Given the description of an element on the screen output the (x, y) to click on. 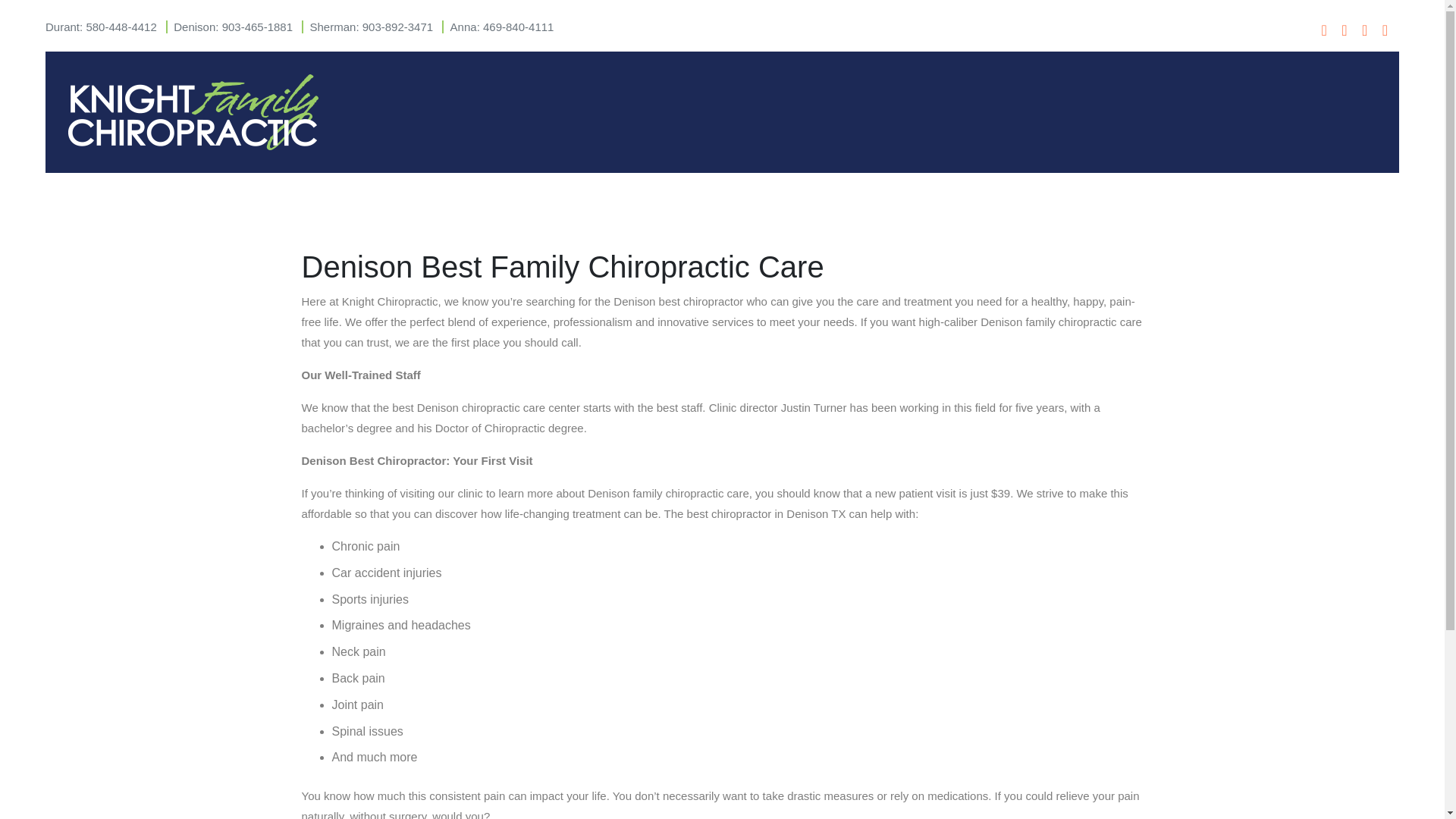
Sherman (333, 26)
Denison (194, 26)
903-465-1881 (257, 26)
903-892-3471 (397, 26)
Durant (62, 26)
469-840-4111 (518, 26)
580-448-4412 (120, 26)
Anna (463, 26)
